Given the description of an element on the screen output the (x, y) to click on. 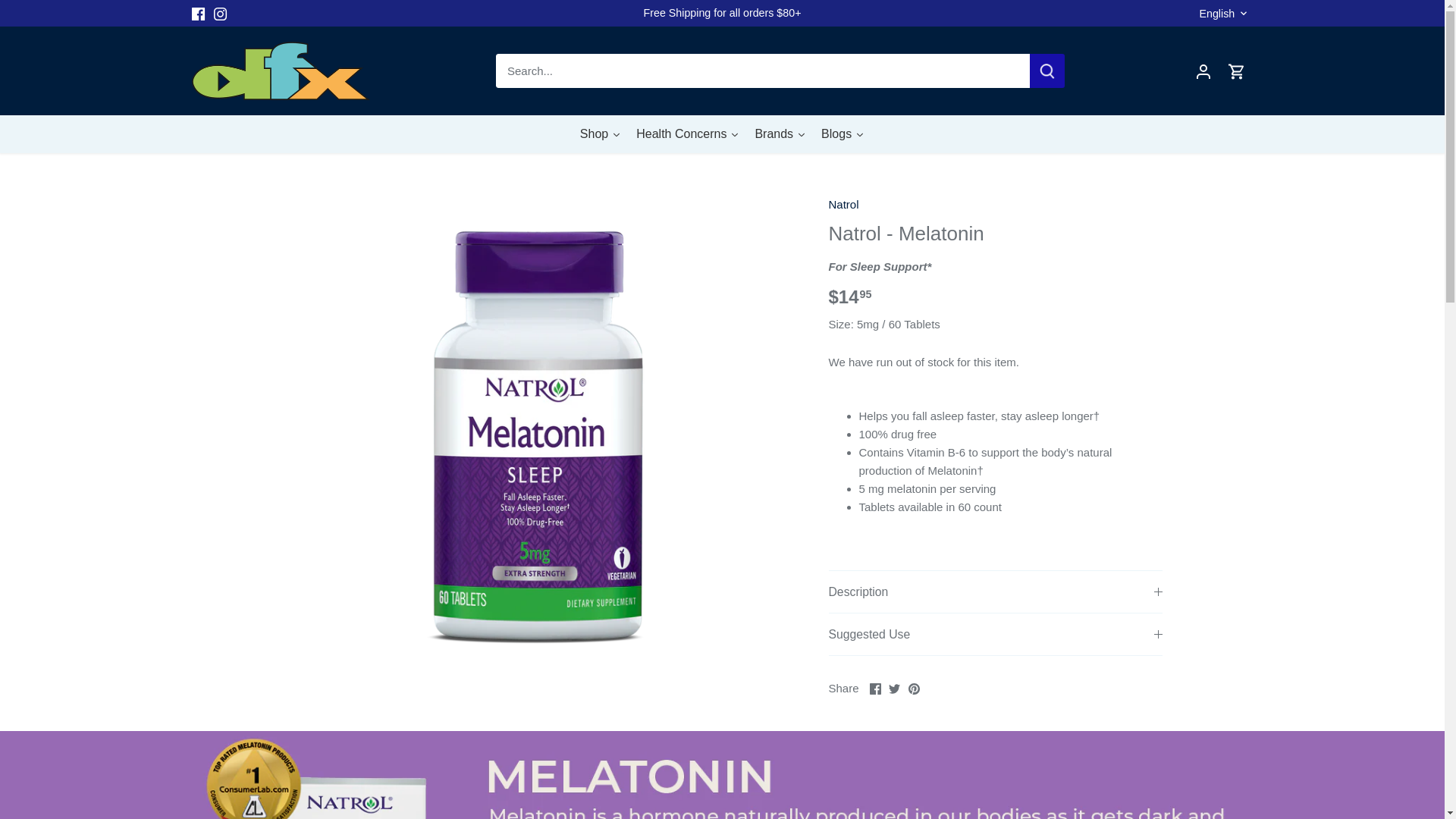
Blogs (842, 134)
Health Concerns (687, 134)
Pinterest (914, 688)
Shop (600, 134)
Facebook (874, 688)
Brands (779, 134)
Twitter (893, 688)
Instagram (220, 13)
Shop (600, 134)
Blogs (842, 134)
Health Concerns (687, 134)
Brands (779, 134)
English (1224, 13)
Facebook (196, 13)
Natrol (843, 204)
